Given the description of an element on the screen output the (x, y) to click on. 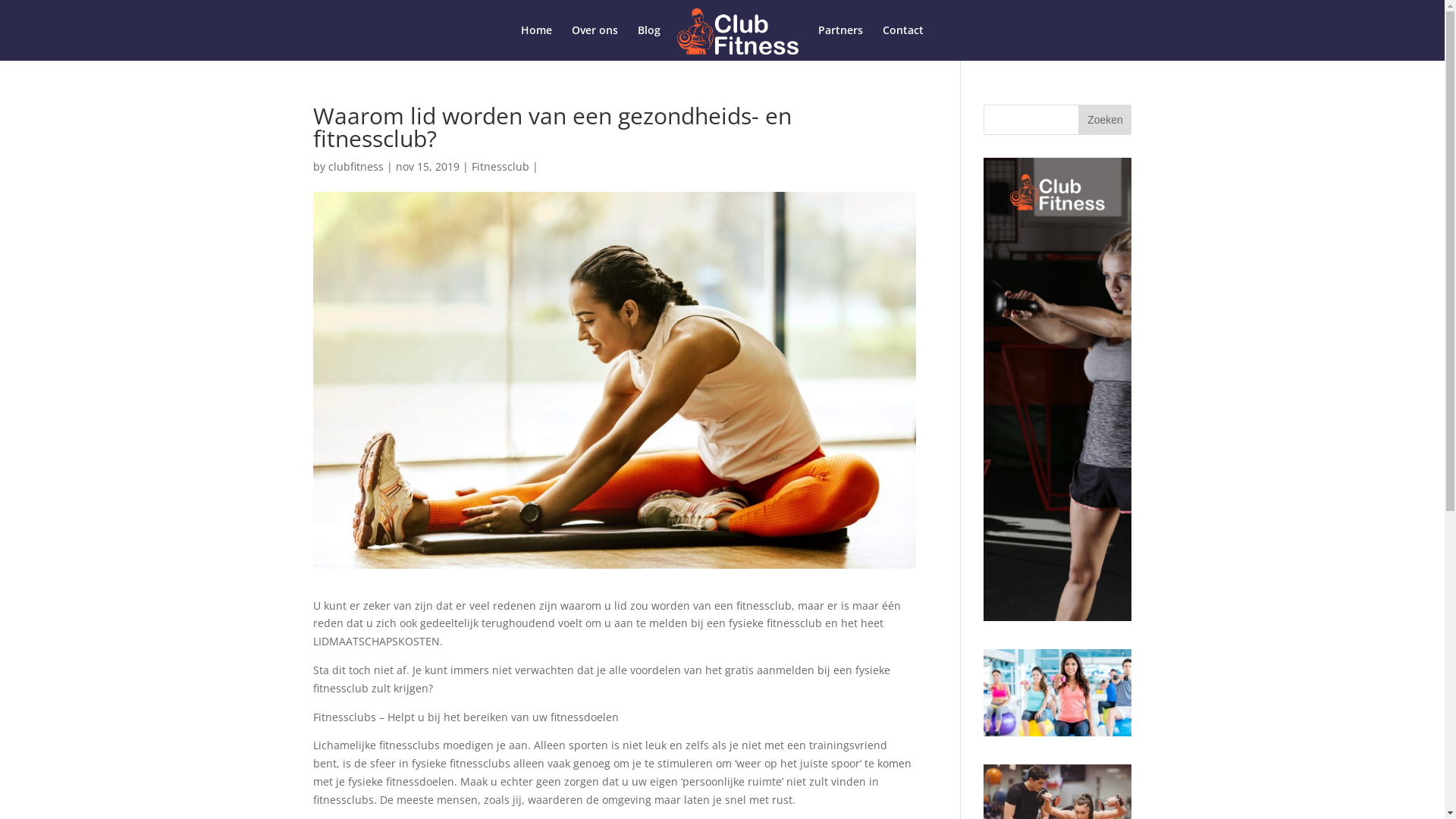
Fitnessclub Element type: text (500, 166)
clubfitness Element type: text (354, 166)
Home Element type: text (536, 42)
Zoeken Element type: text (1104, 119)
Partners Element type: text (840, 42)
Blog Element type: text (648, 42)
Contact Element type: text (902, 42)
Over ons Element type: text (594, 42)
